Given the description of an element on the screen output the (x, y) to click on. 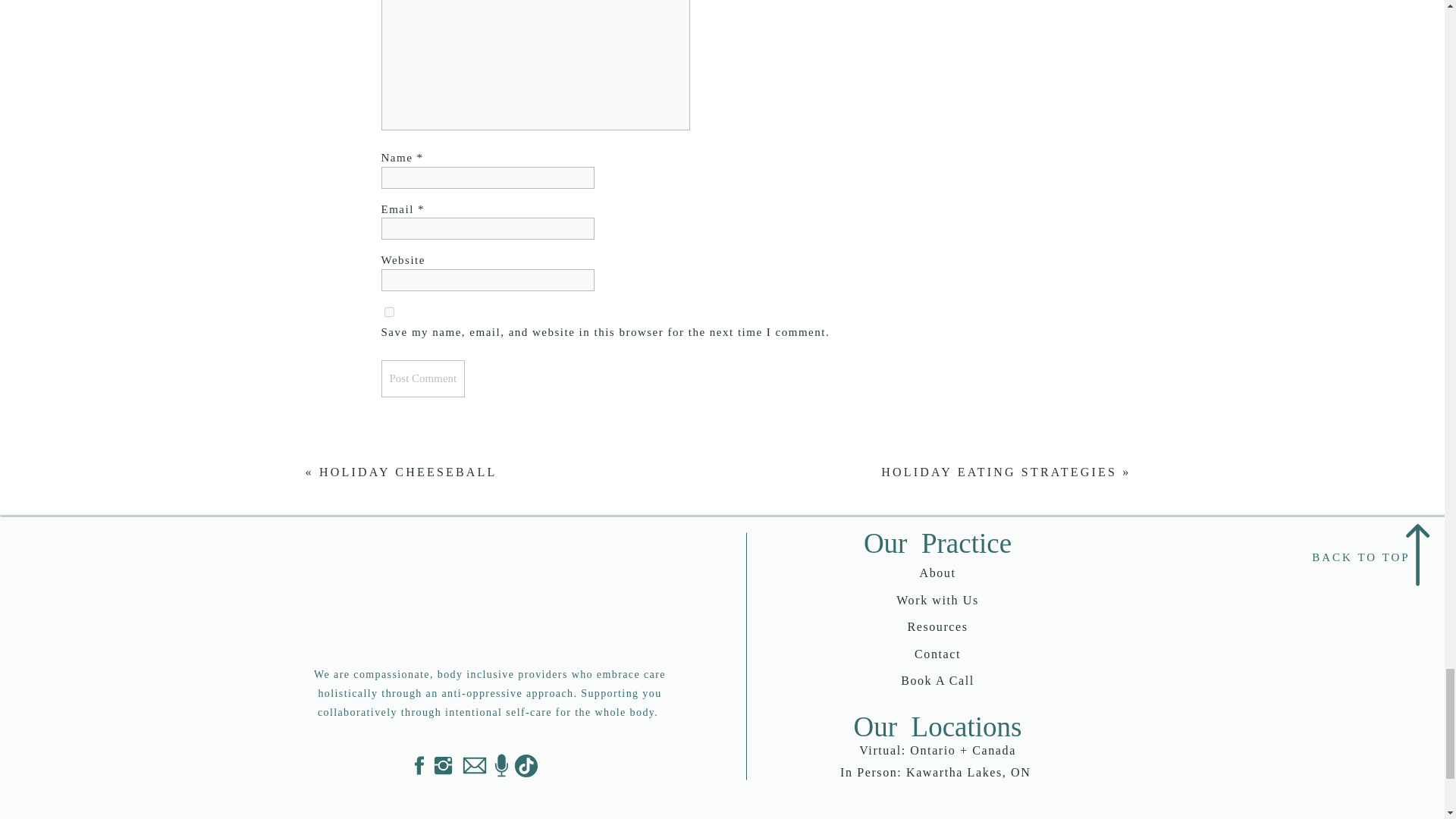
yes (388, 311)
Post Comment (422, 378)
